Given the description of an element on the screen output the (x, y) to click on. 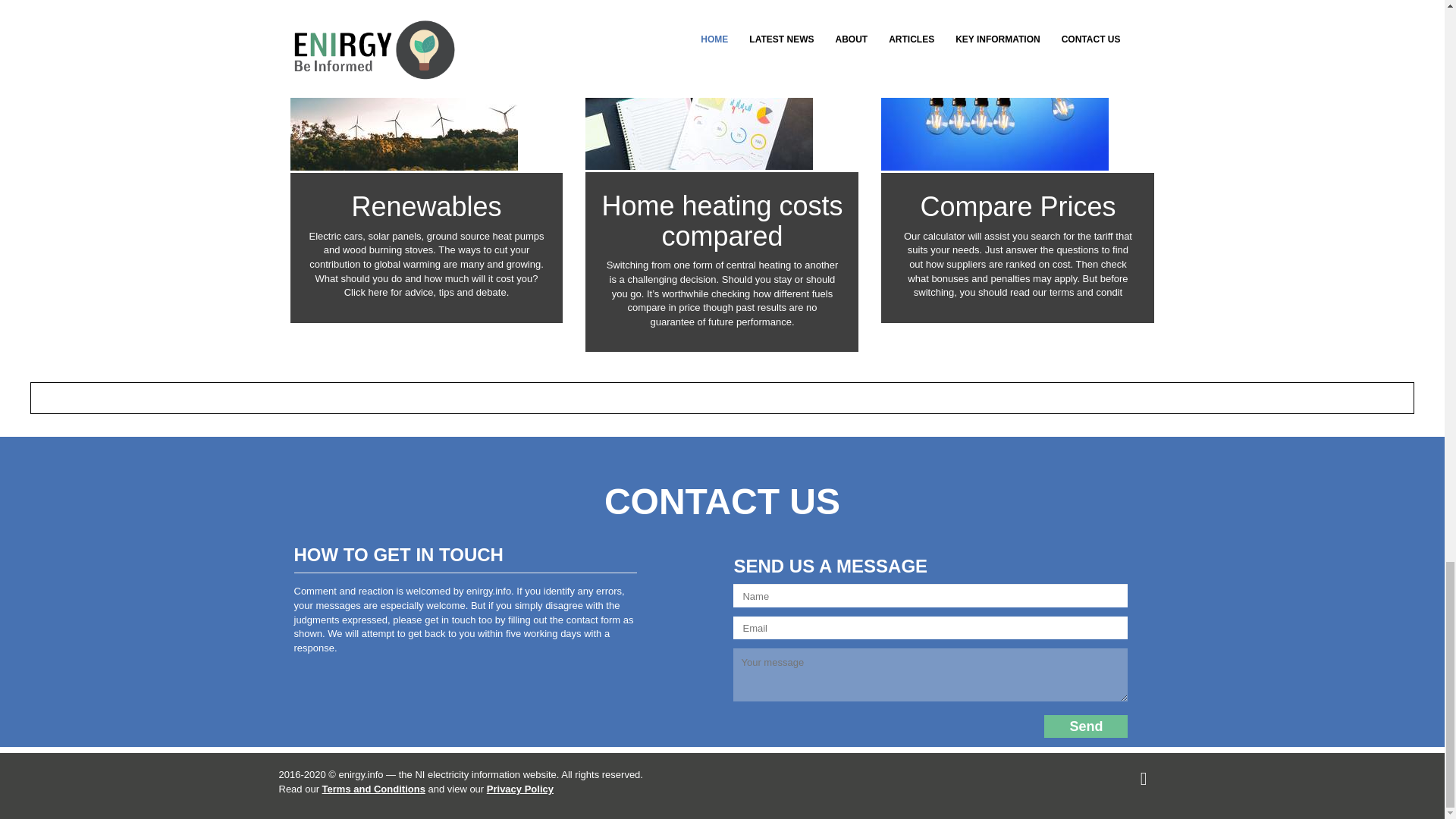
Terms and Conditions (373, 788)
Home heating costs compared (722, 220)
Send (1084, 725)
Send (1084, 725)
Renewables (425, 205)
Compare Prices (1017, 205)
Privacy Policy (519, 788)
